Given the description of an element on the screen output the (x, y) to click on. 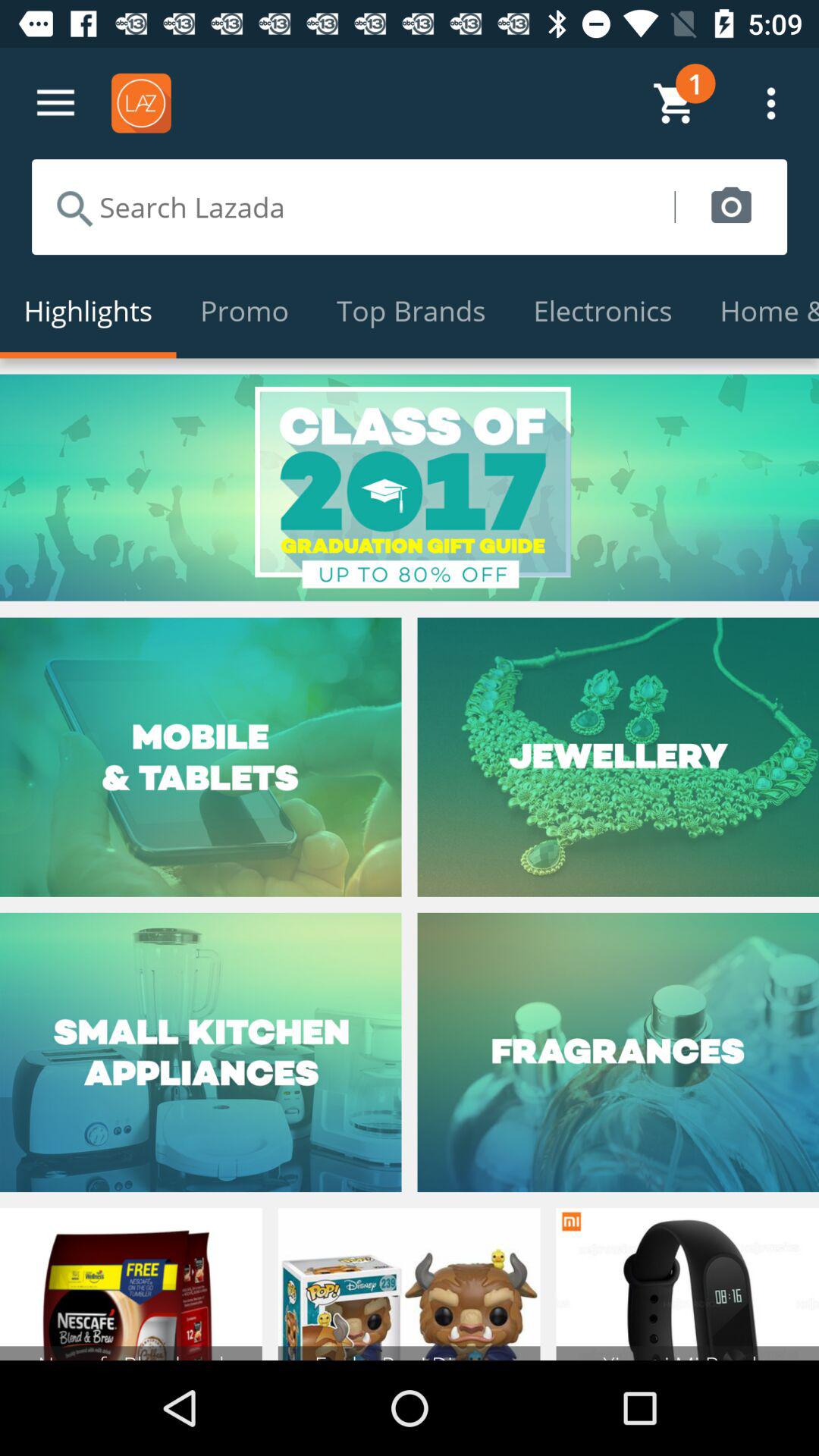
turn off the icon above electronics icon (731, 206)
